Given the description of an element on the screen output the (x, y) to click on. 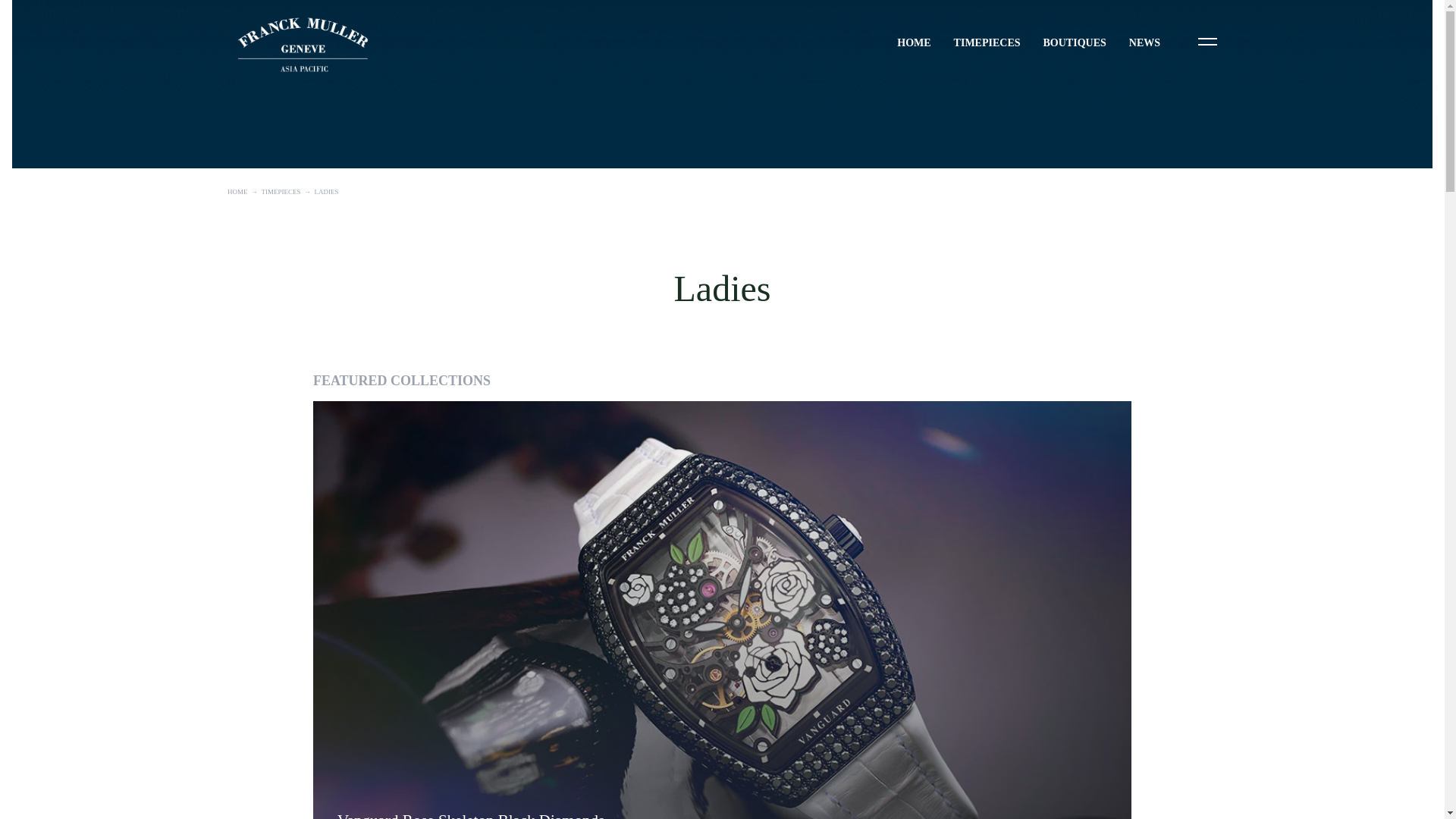
BOUTIQUES (1074, 42)
TIMEPIECES (986, 42)
HOME (913, 42)
NEWS (1144, 42)
